Given the description of an element on the screen output the (x, y) to click on. 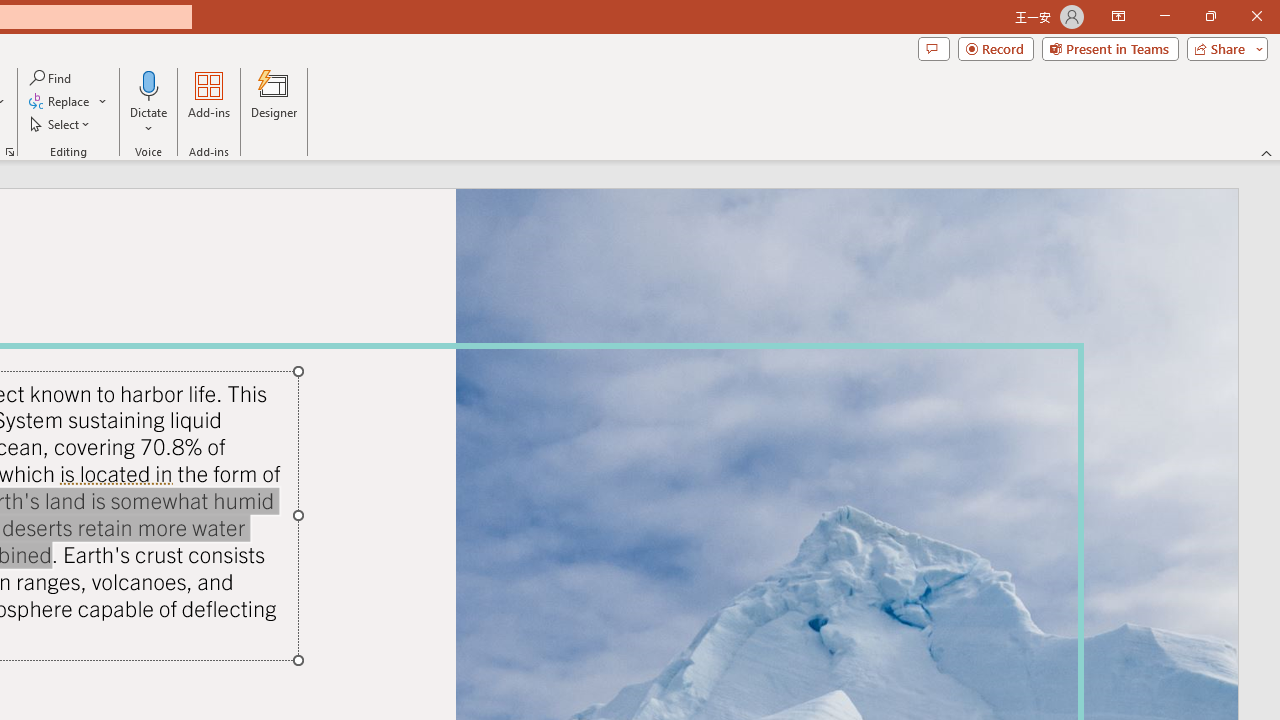
Find... (51, 78)
Designer (274, 102)
